Given the description of an element on the screen output the (x, y) to click on. 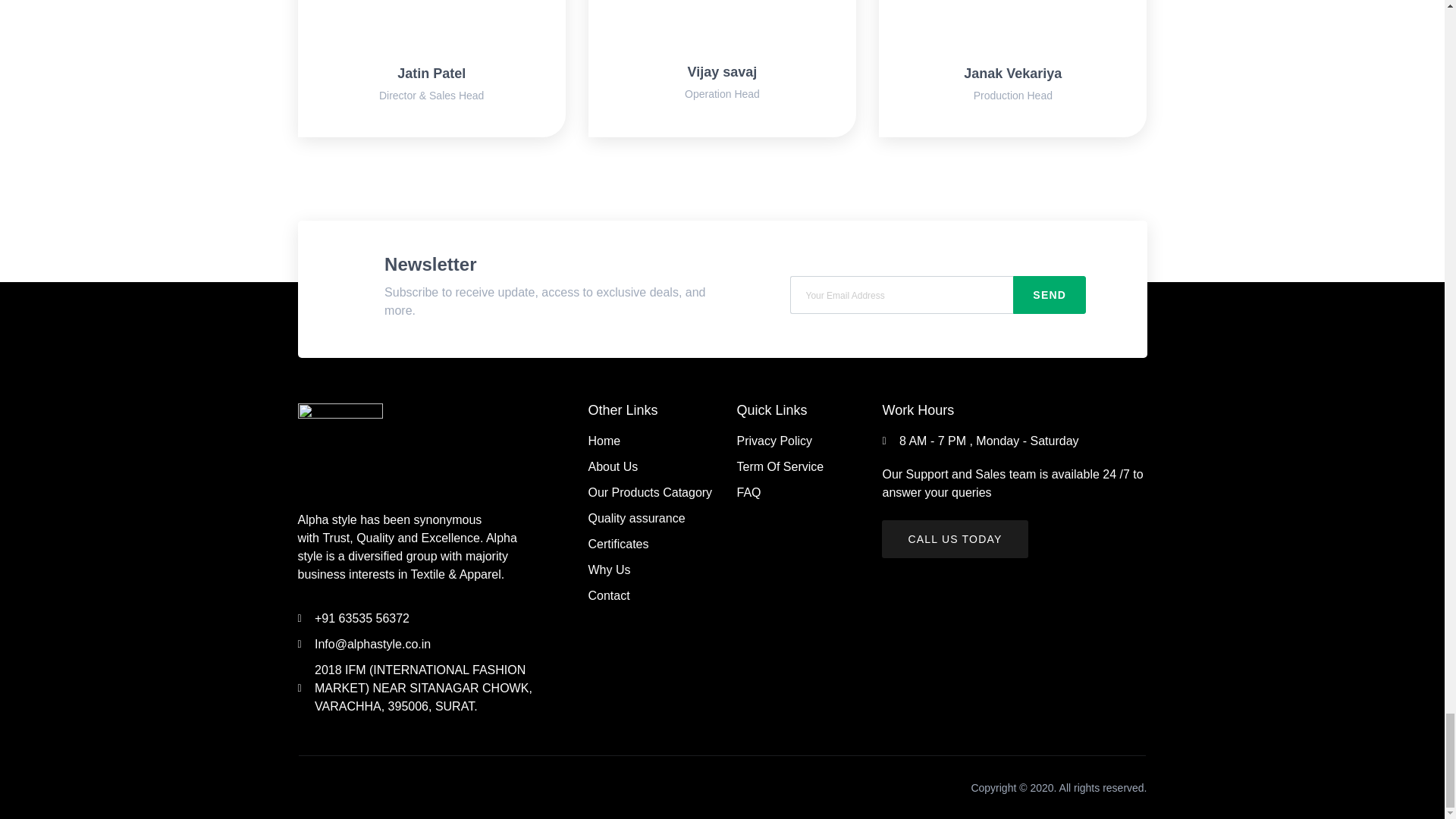
CALL US TODAY (954, 538)
Home (654, 441)
Our Products Catagory (654, 493)
FAQ (790, 493)
Privacy Policy (790, 441)
Term Of Service (790, 466)
Why Us (654, 570)
Certificates (654, 544)
SEND (1049, 294)
Contact (654, 596)
